Given the description of an element on the screen output the (x, y) to click on. 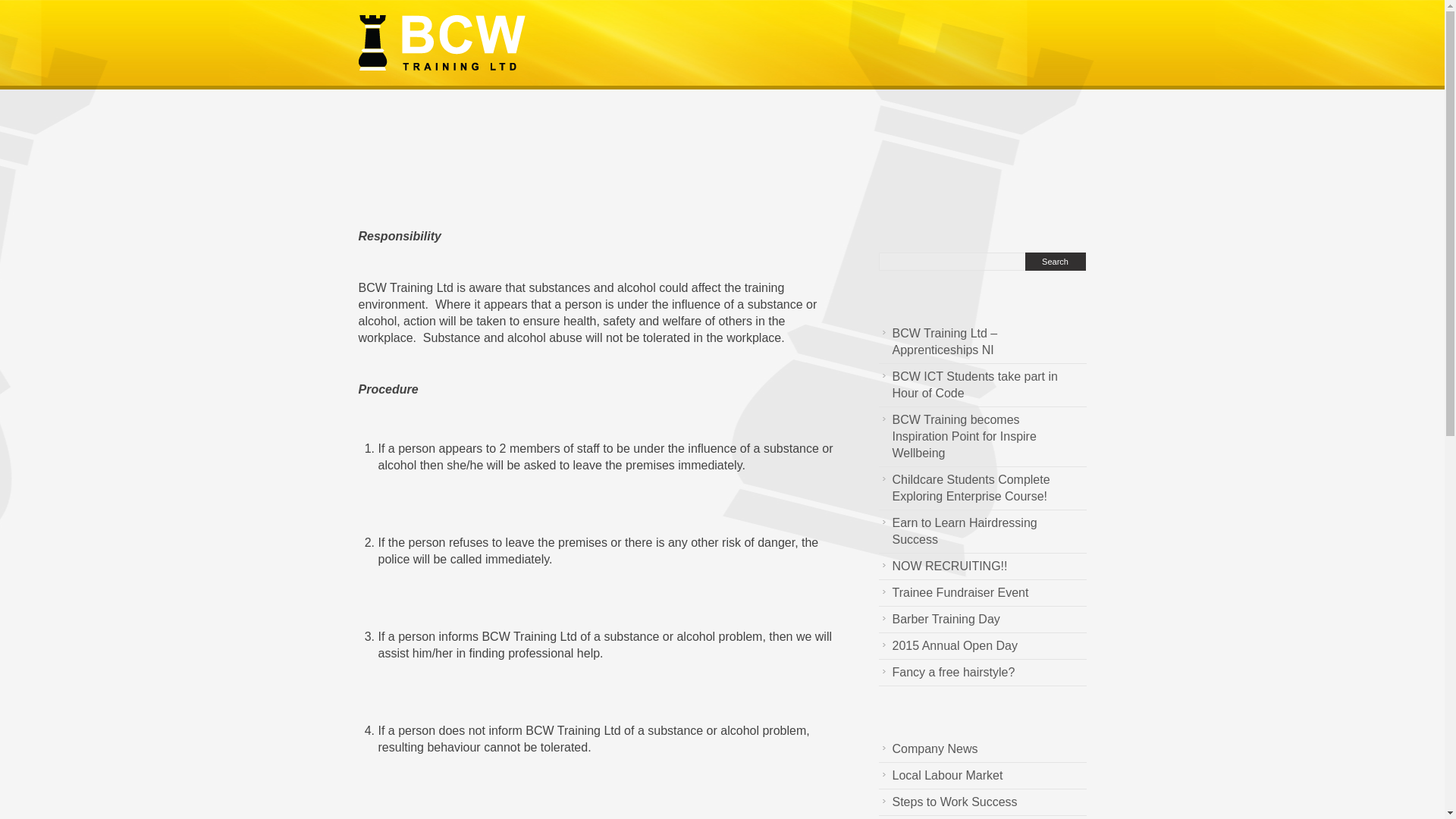
Search (1055, 261)
Steps to Work Success (951, 801)
Company News (931, 749)
BCW Training becomes Inspiration Point for Inspire Wellbeing (981, 436)
Trainee Stories (929, 817)
Trainee Fundraiser Event (956, 592)
2015 Annual Open Day (951, 646)
Steps to Work candidate's success stories (951, 801)
BCW ICT Students take part in Hour of Code (981, 384)
Childcare Students Complete Exploring Enterprise Course! (981, 487)
